Given the description of an element on the screen output the (x, y) to click on. 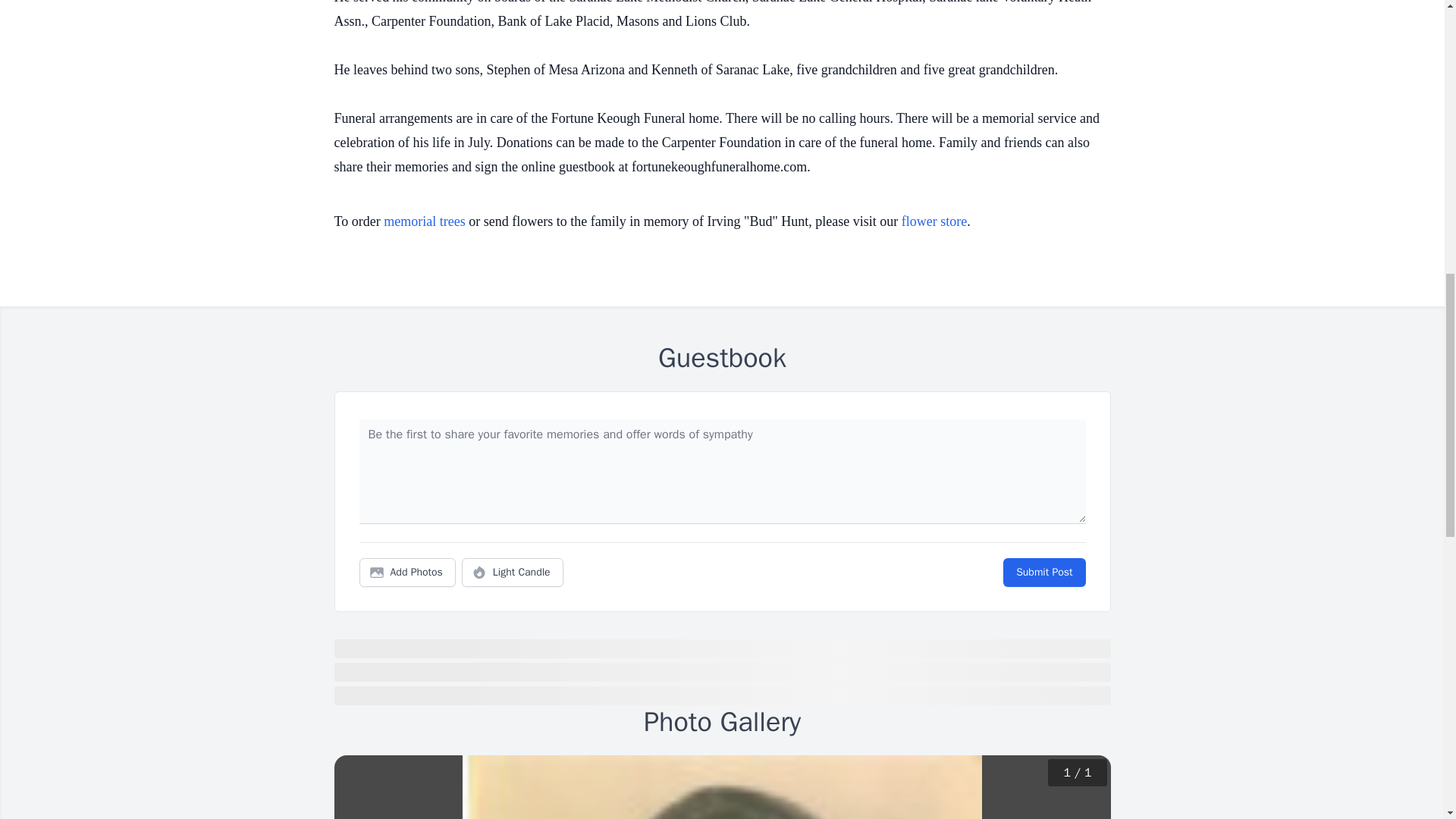
flower store (933, 221)
Add Photos (407, 572)
memorial trees (424, 221)
Submit Post (1043, 572)
Light Candle (512, 572)
